Given the description of an element on the screen output the (x, y) to click on. 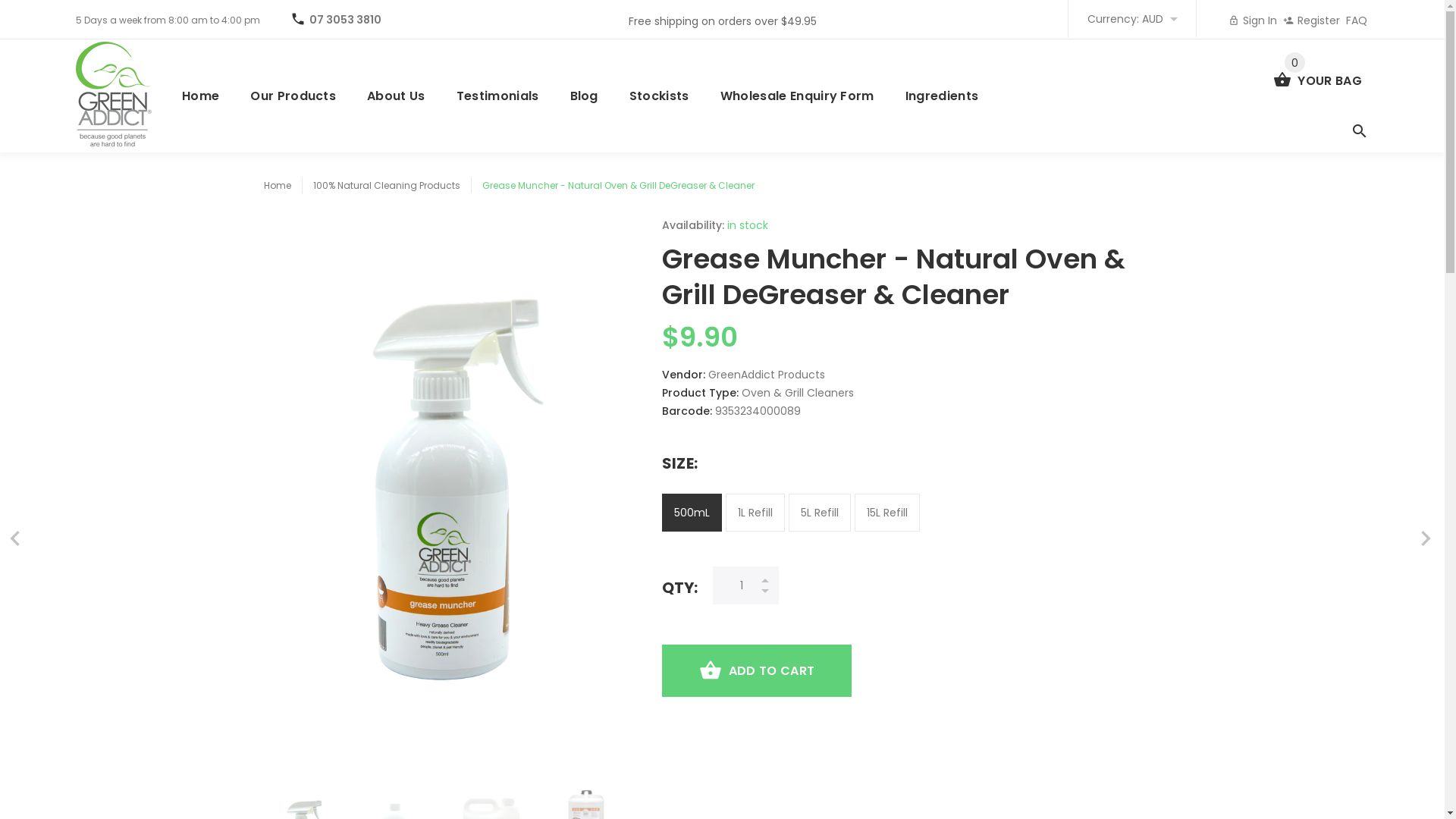
Register Element type: text (1311, 20)
About Us Element type: text (396, 95)
Testimonials Element type: text (498, 95)
Currency: AUD Element type: text (1131, 18)
Ingredients Element type: text (942, 95)
500mL Element type: text (691, 512)
Wholesale Enquiry Form Element type: text (797, 95)
0
YOUR BAG Element type: text (1317, 74)
Our Products Element type: text (293, 95)
5L Refill Element type: text (819, 512)
Blog Element type: text (584, 95)
15L Refill Element type: text (886, 512)
Home Element type: text (208, 95)
Sign In Element type: text (1252, 20)
100% Natural Cleaning Products Element type: text (385, 185)
Stockists Element type: text (659, 95)
Home Element type: text (277, 185)
1L Refill Element type: text (754, 512)
ADD TO CART Element type: text (756, 670)
FAQ Element type: text (1356, 20)
07 3053 3810 Element type: text (345, 19)
